Given the description of an element on the screen output the (x, y) to click on. 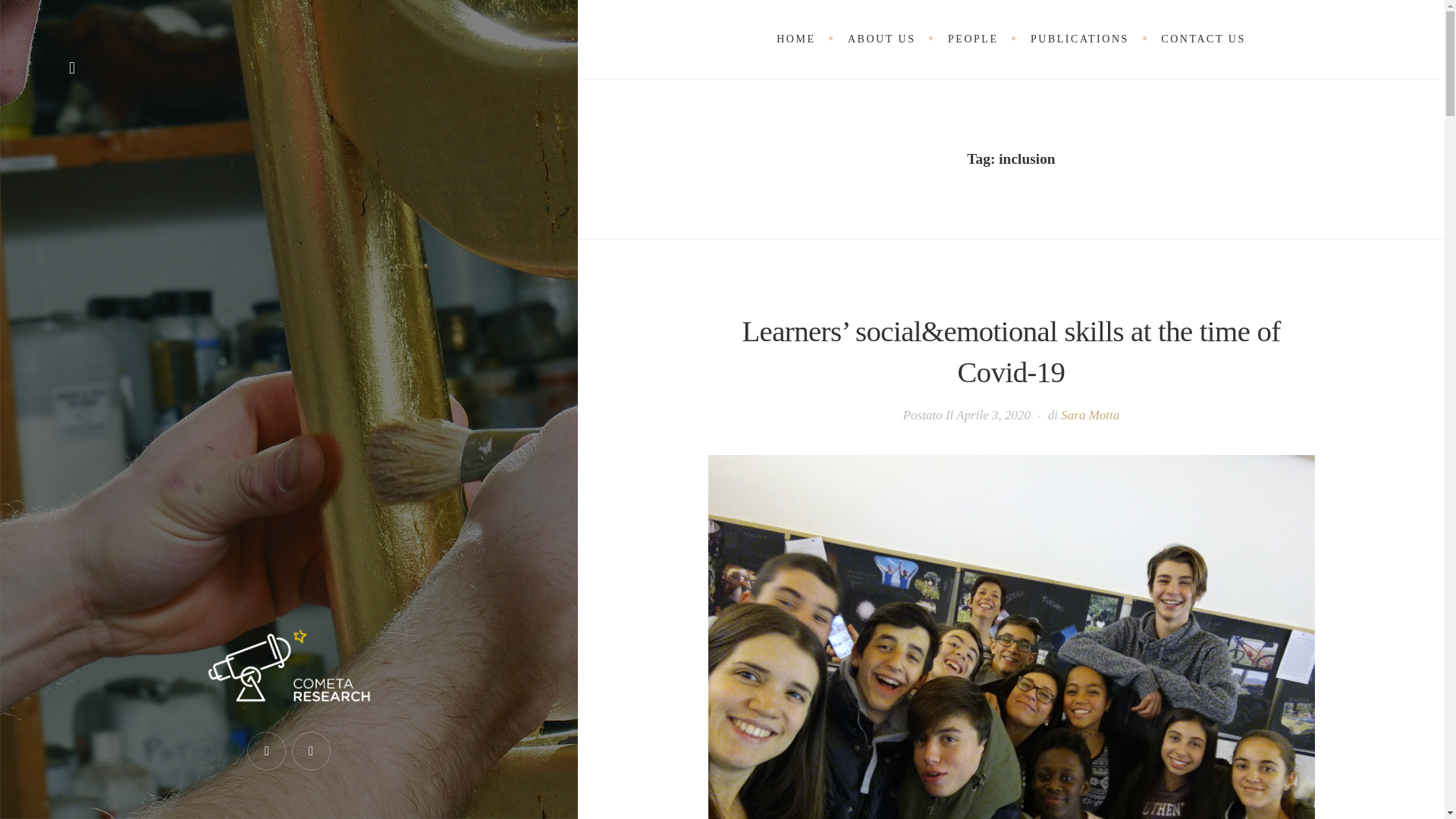
PUBLICATIONS (1079, 38)
HOME (795, 38)
CONTACT US (1203, 38)
Sara Motta (1090, 414)
ABOUT US (881, 38)
PEOPLE (973, 38)
